Given the description of an element on the screen output the (x, y) to click on. 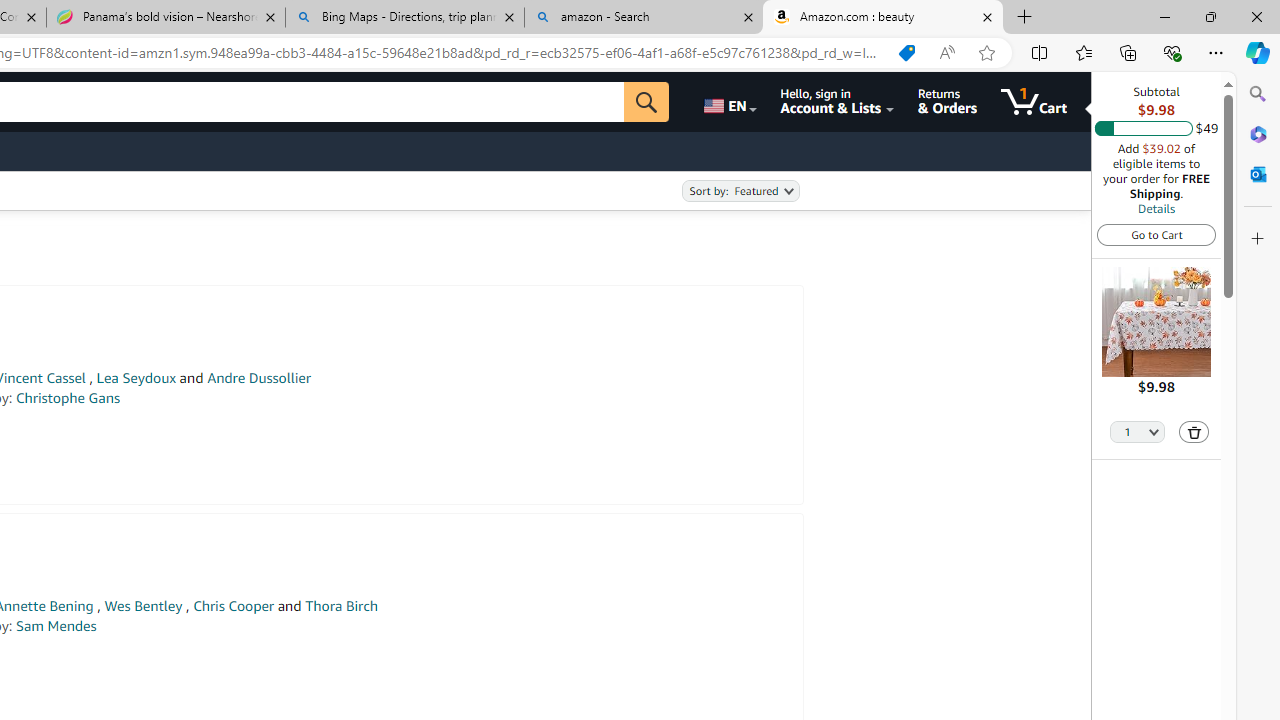
Chris Cooper (234, 606)
Hello, sign in Account & Lists (836, 101)
Thora Birch (340, 606)
